Given the description of an element on the screen output the (x, y) to click on. 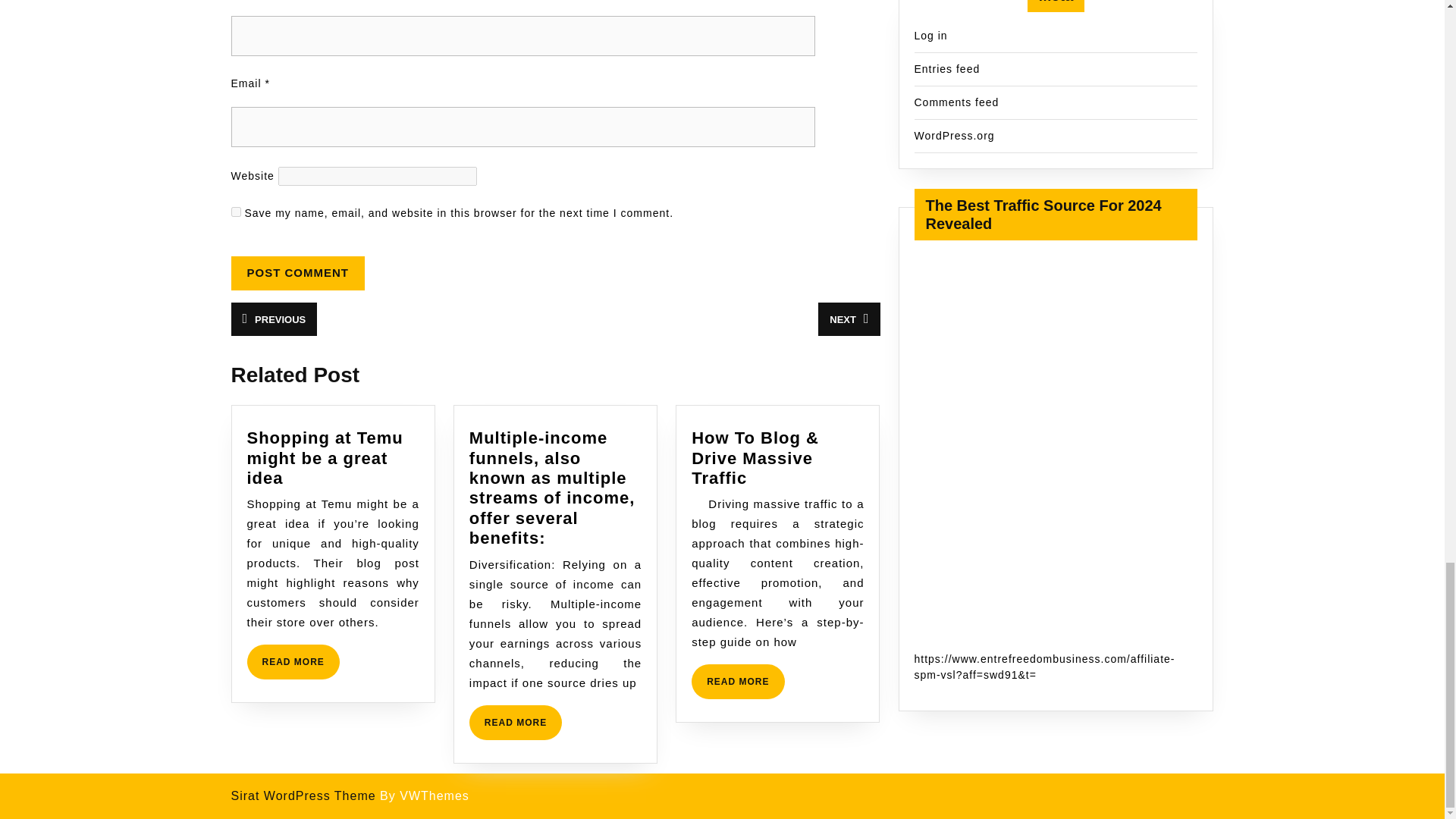
Post Comment (297, 273)
yes (293, 661)
Post Comment (235, 212)
